Given the description of an element on the screen output the (x, y) to click on. 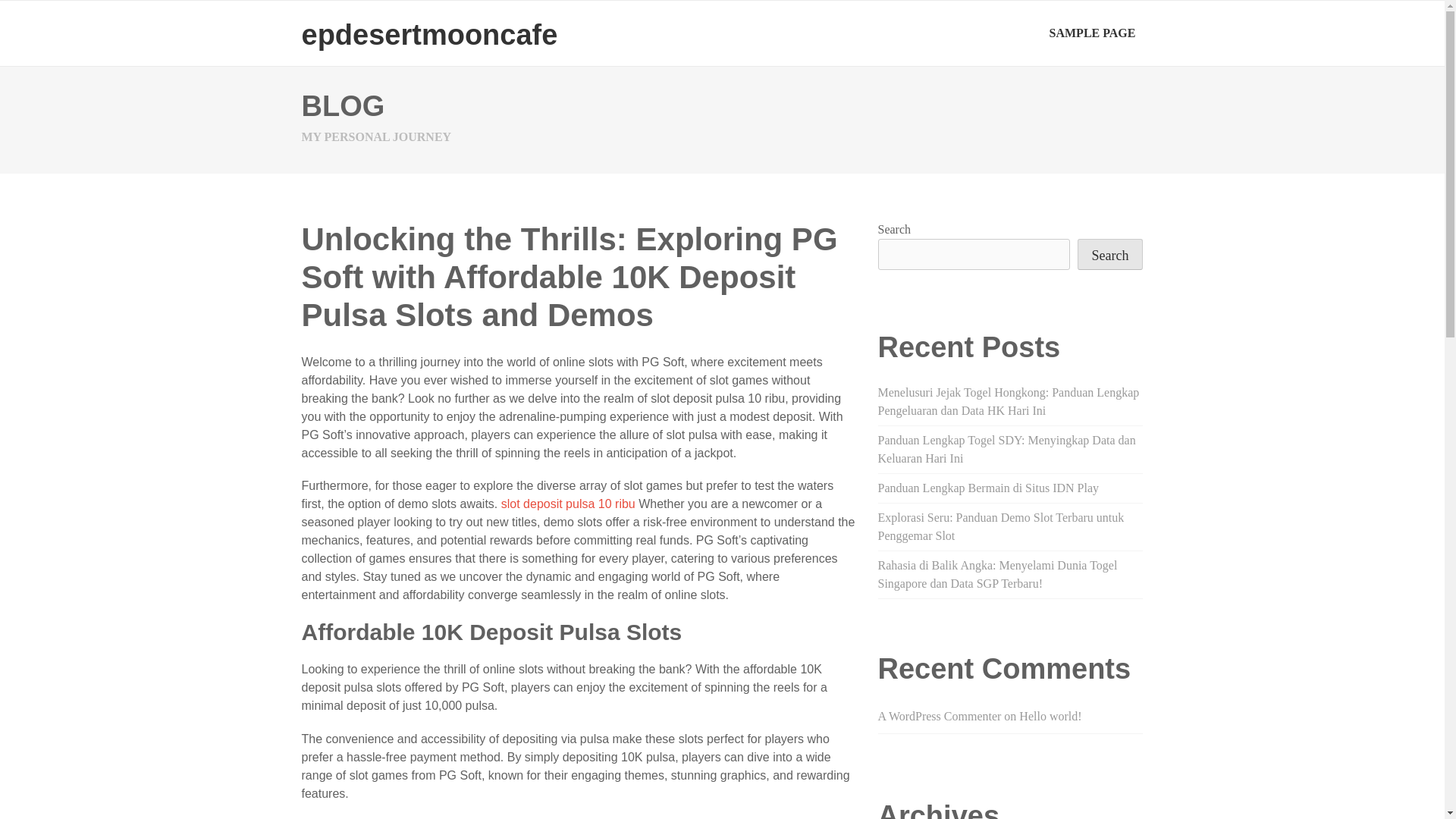
Panduan Lengkap Bermain di Situs IDN Play (988, 487)
epdesertmooncafe (429, 34)
SAMPLE PAGE (1092, 33)
Search (1109, 254)
slot deposit pulsa 10 ribu (567, 503)
A WordPress Commenter (939, 716)
Hello world! (1050, 716)
